Given the description of an element on the screen output the (x, y) to click on. 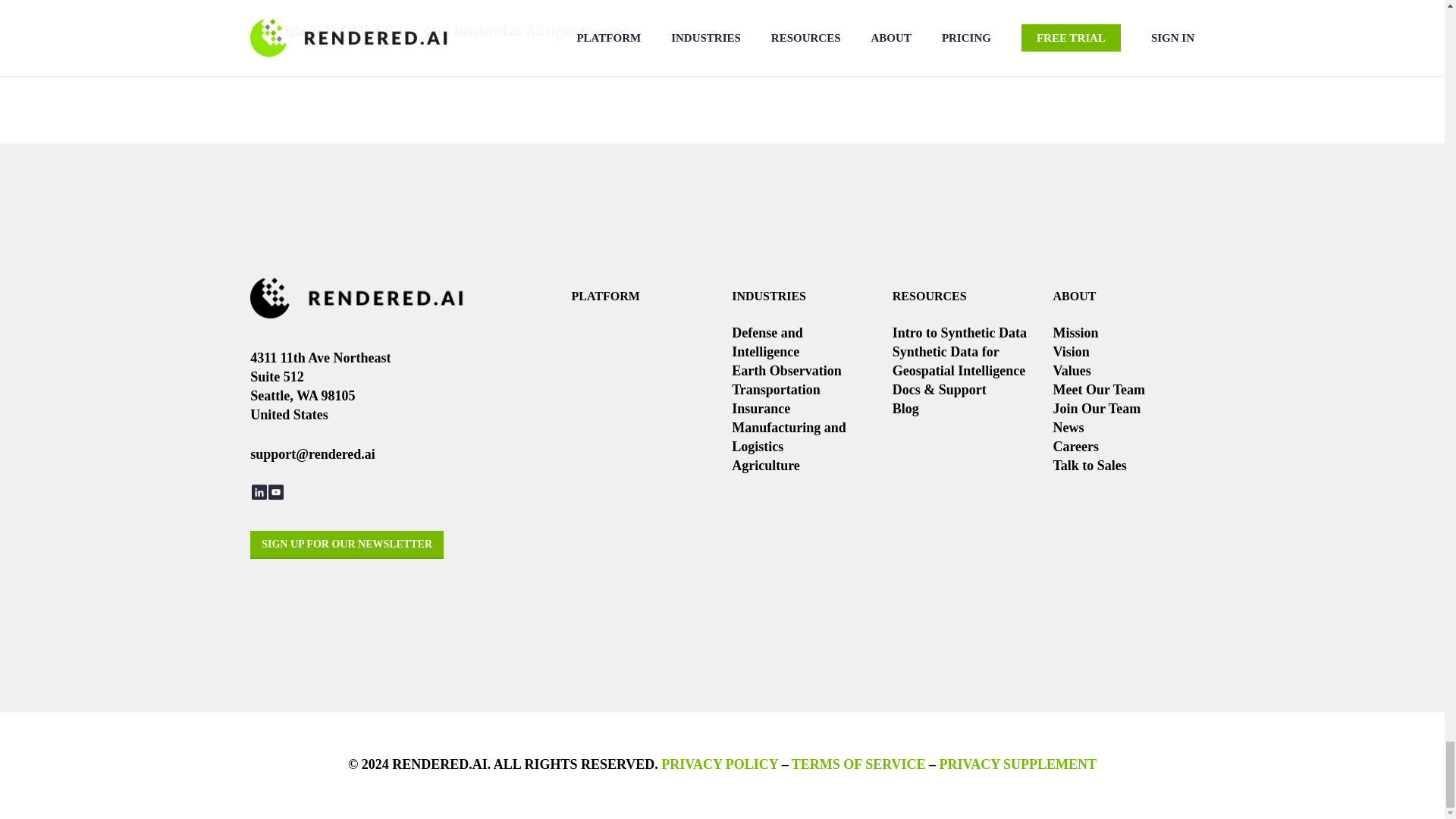
SIGN UP FOR OUR NEWSLETTER (347, 544)
